Given the description of an element on the screen output the (x, y) to click on. 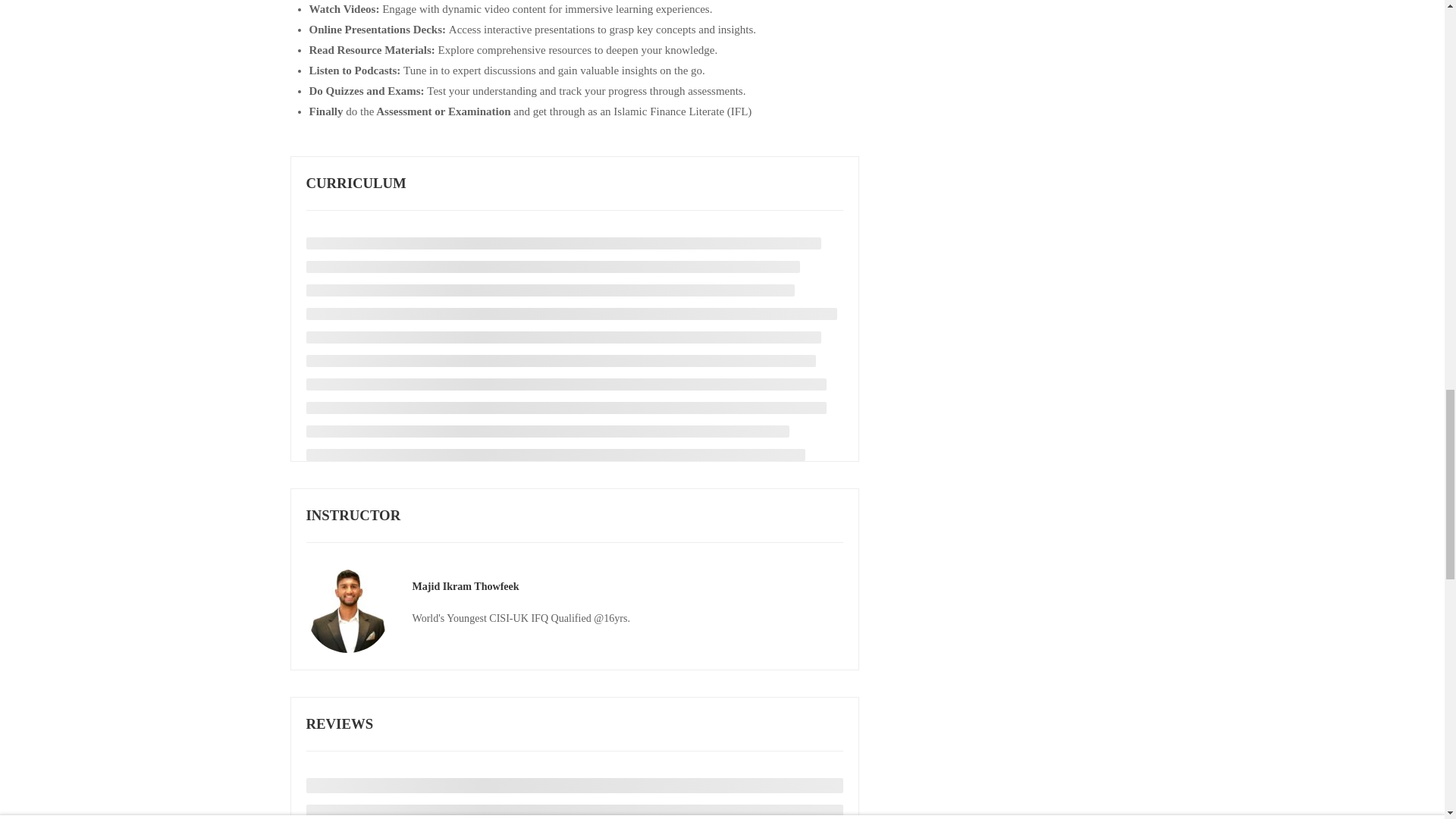
Majid Ikram Thowfeek (465, 585)
